Given the description of an element on the screen output the (x, y) to click on. 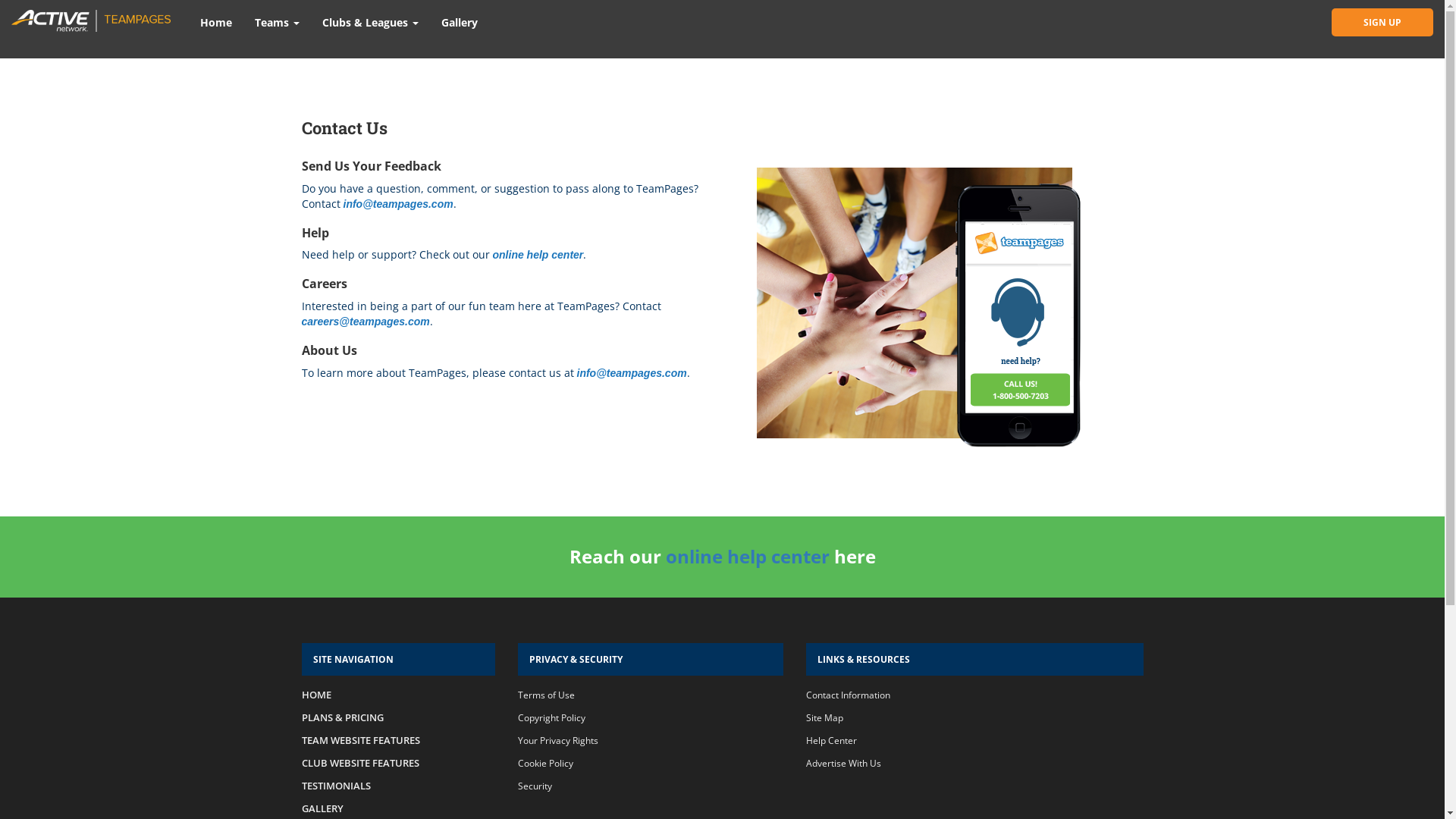
Cookie Policy Element type: text (544, 762)
Gallery Element type: text (454, 26)
info@teampages.com Element type: text (631, 373)
TEAM WEBSITE FEATURES Element type: text (360, 739)
HOME Element type: text (316, 694)
Advertise With Us Element type: text (842, 762)
Return to Homepage Element type: hover (111, 39)
PLANS & PRICING Element type: text (342, 717)
Security Element type: text (534, 785)
careers@teampages.com Element type: text (365, 321)
Gallery Element type: text (459, 22)
TESTIMONIALS Element type: text (335, 785)
Site Map Element type: text (823, 717)
Teams Element type: text (276, 22)
Copyright Policy Element type: text (550, 717)
Teams Element type: text (281, 26)
GALLERY Element type: text (322, 808)
Your Privacy Rights Element type: text (557, 740)
online help center Element type: text (747, 555)
SIGN UP Element type: text (1303, 27)
Return to Homepage Element type: hover (99, 18)
online help center Element type: text (537, 254)
CLUB WEBSITE FEATURES Element type: text (360, 762)
Home Element type: text (215, 22)
LOGIN Element type: text (1390, 27)
Clubs & Leagues Element type: text (369, 22)
Clubs & Leagues Element type: text (370, 26)
Help Center Element type: text (830, 740)
info@teampages.com Element type: text (397, 203)
SIGN UP Element type: text (1382, 22)
Contact Information Element type: text (847, 694)
Terms of Use Element type: text (545, 694)
Home Element type: text (225, 26)
